Given the description of an element on the screen output the (x, y) to click on. 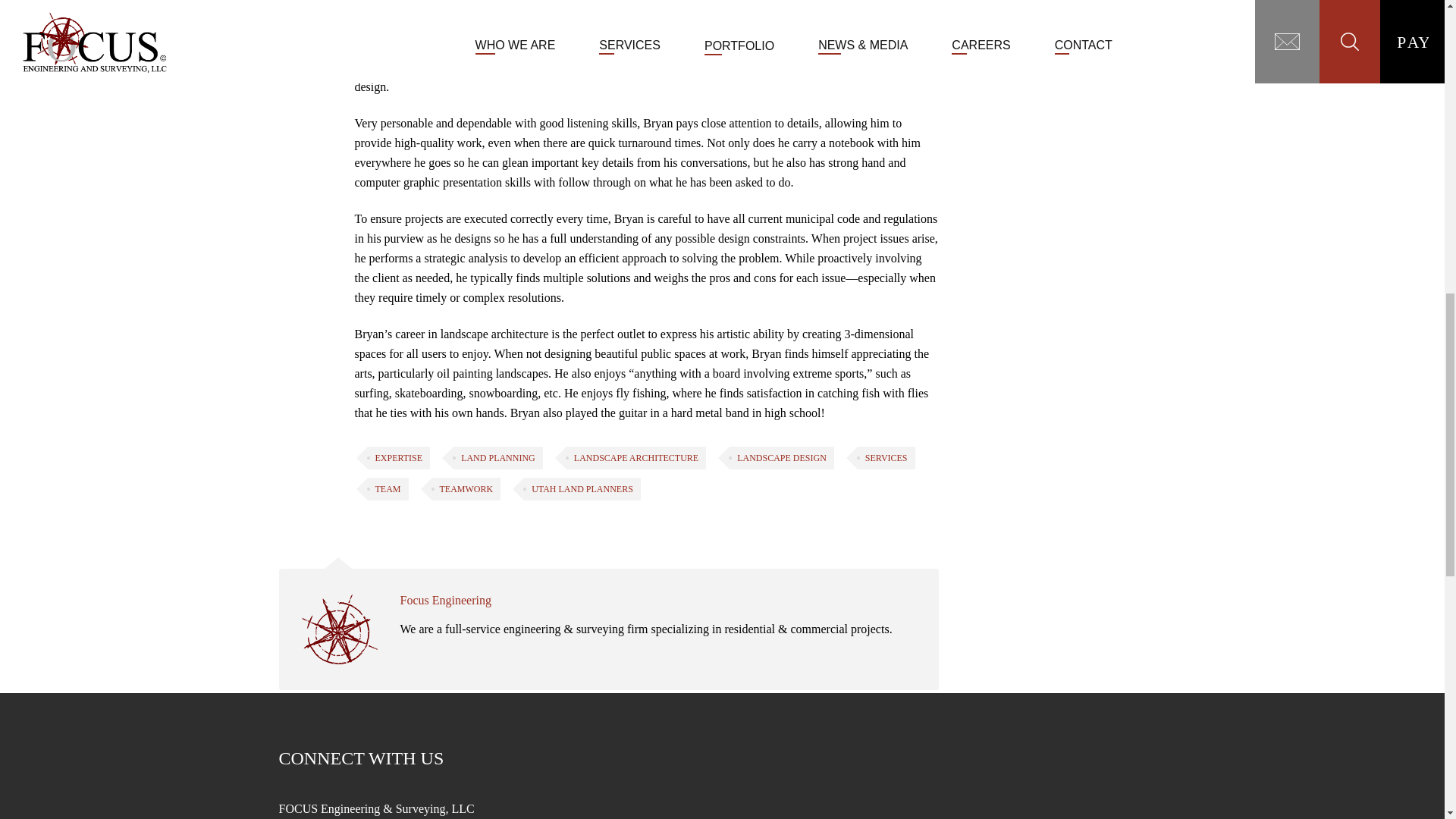
LANDSCAPE ARCHITECTURE (636, 457)
LAND PLANNING (497, 457)
EXPERTISE (397, 457)
